Given the description of an element on the screen output the (x, y) to click on. 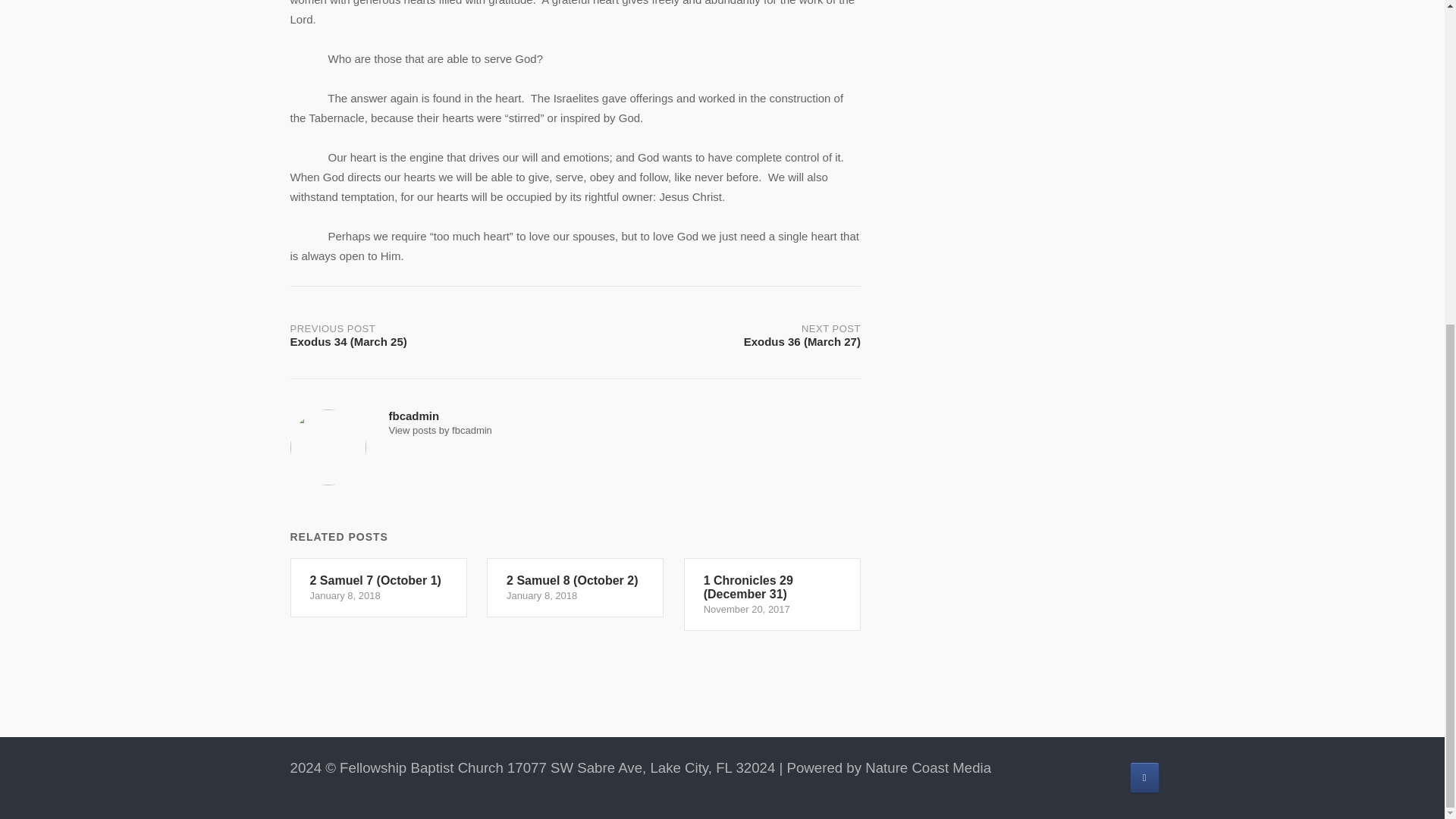
17077 SW Sabre Ave, Lake City, FL 32024 (640, 767)
Fellowship Baptist Church on Facebook (1143, 777)
View posts by fbcadmin (440, 430)
Powered by Nature Coast Media (889, 767)
